Given the description of an element on the screen output the (x, y) to click on. 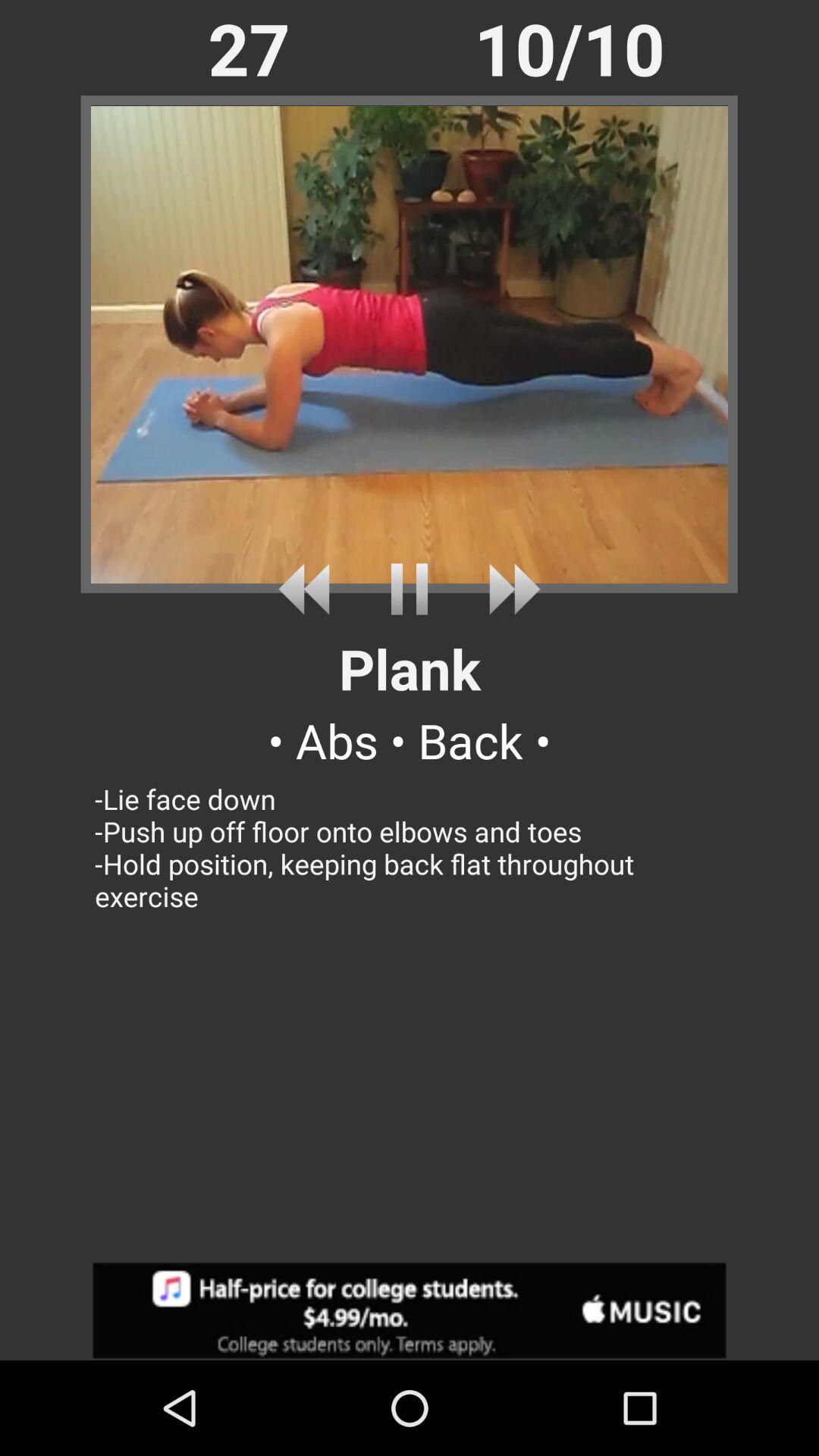
next (508, 589)
